Given the description of an element on the screen output the (x, y) to click on. 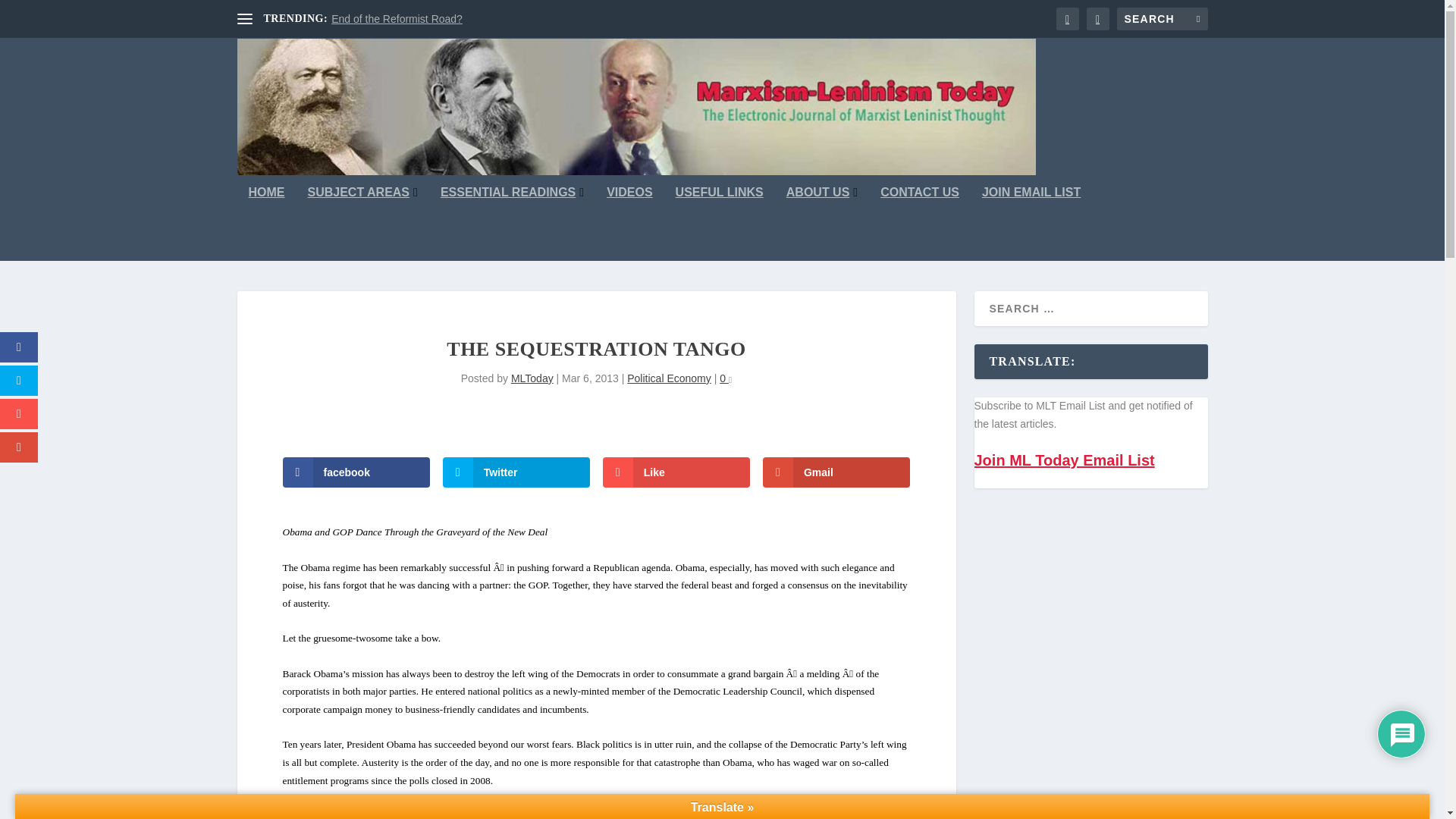
VIDEOS (629, 223)
comment count (730, 380)
Search for: (1161, 18)
HOME (266, 223)
SUBJECT AREAS (362, 223)
Posts by MLToday (532, 378)
ESSENTIAL READINGS (512, 223)
End of the Reformist Road? (397, 19)
USEFUL LINKS (718, 223)
ABOUT US (821, 223)
